Given the description of an element on the screen output the (x, y) to click on. 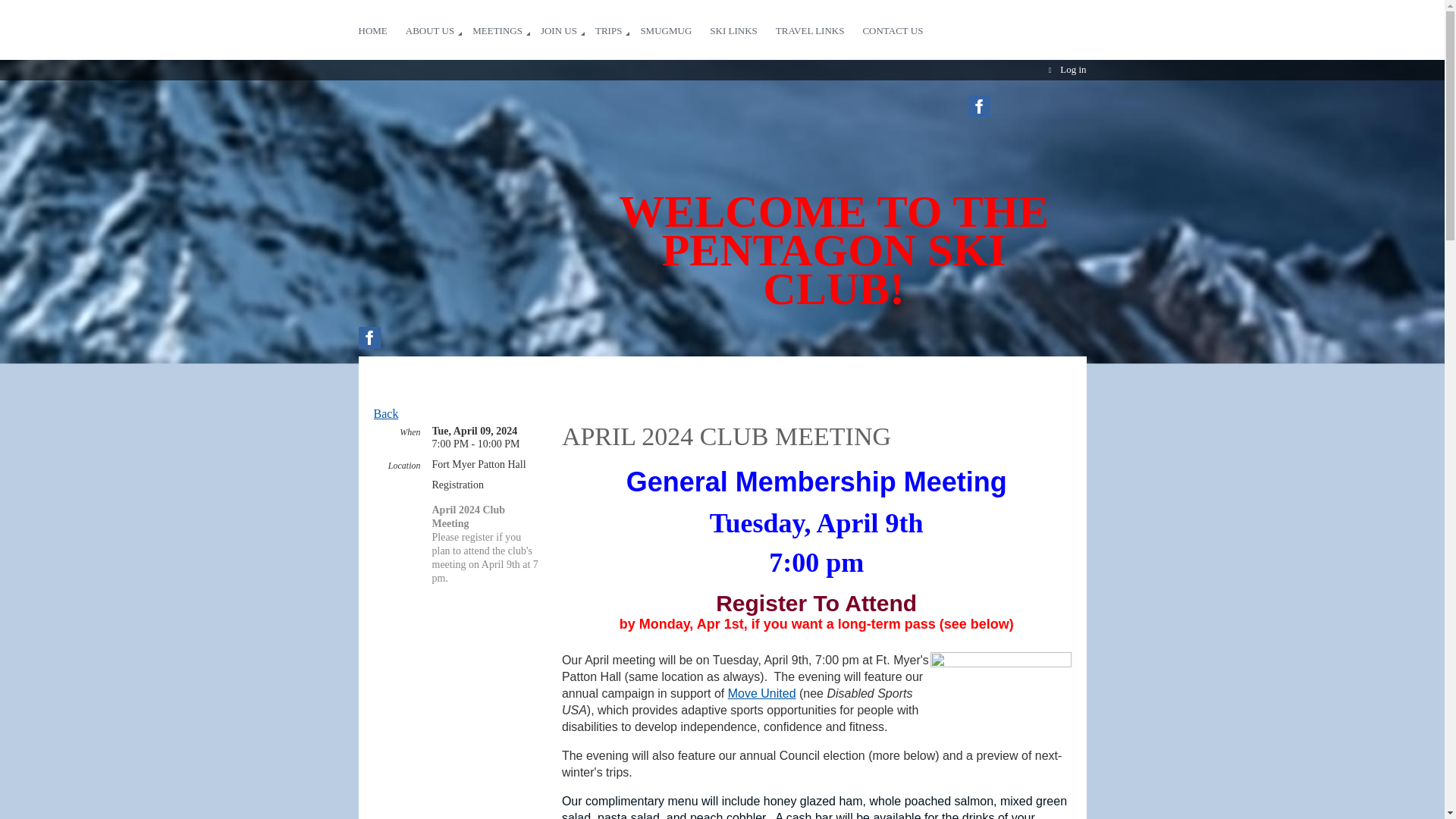
ABOUT US (438, 22)
MEETINGS (505, 22)
HOME (381, 22)
